Given the description of an element on the screen output the (x, y) to click on. 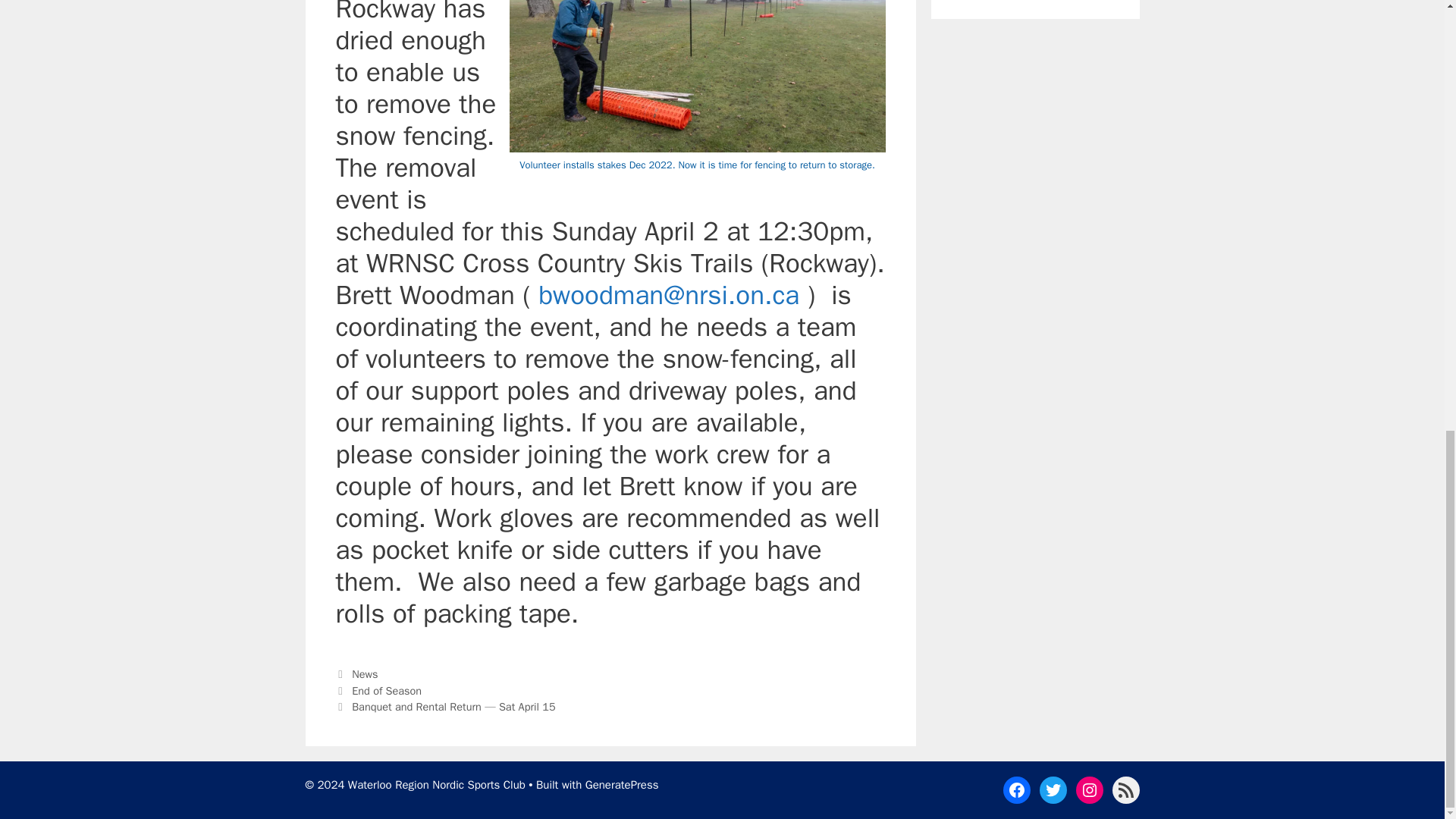
End of Season (387, 690)
News (364, 673)
Scroll back to top (1406, 626)
